Given the description of an element on the screen output the (x, y) to click on. 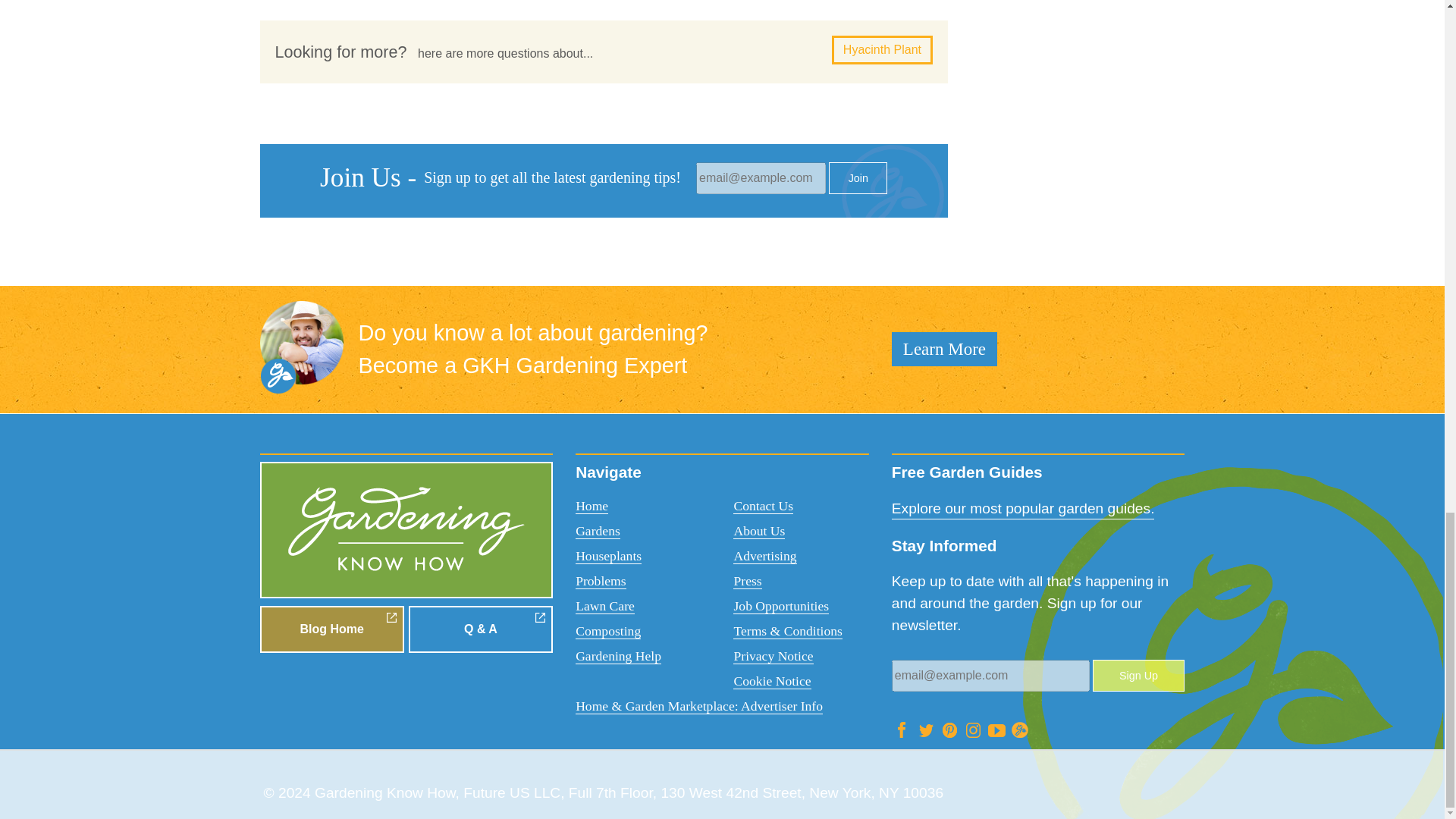
Hyacinth Plant (882, 50)
Join (857, 178)
